Given the description of an element on the screen output the (x, y) to click on. 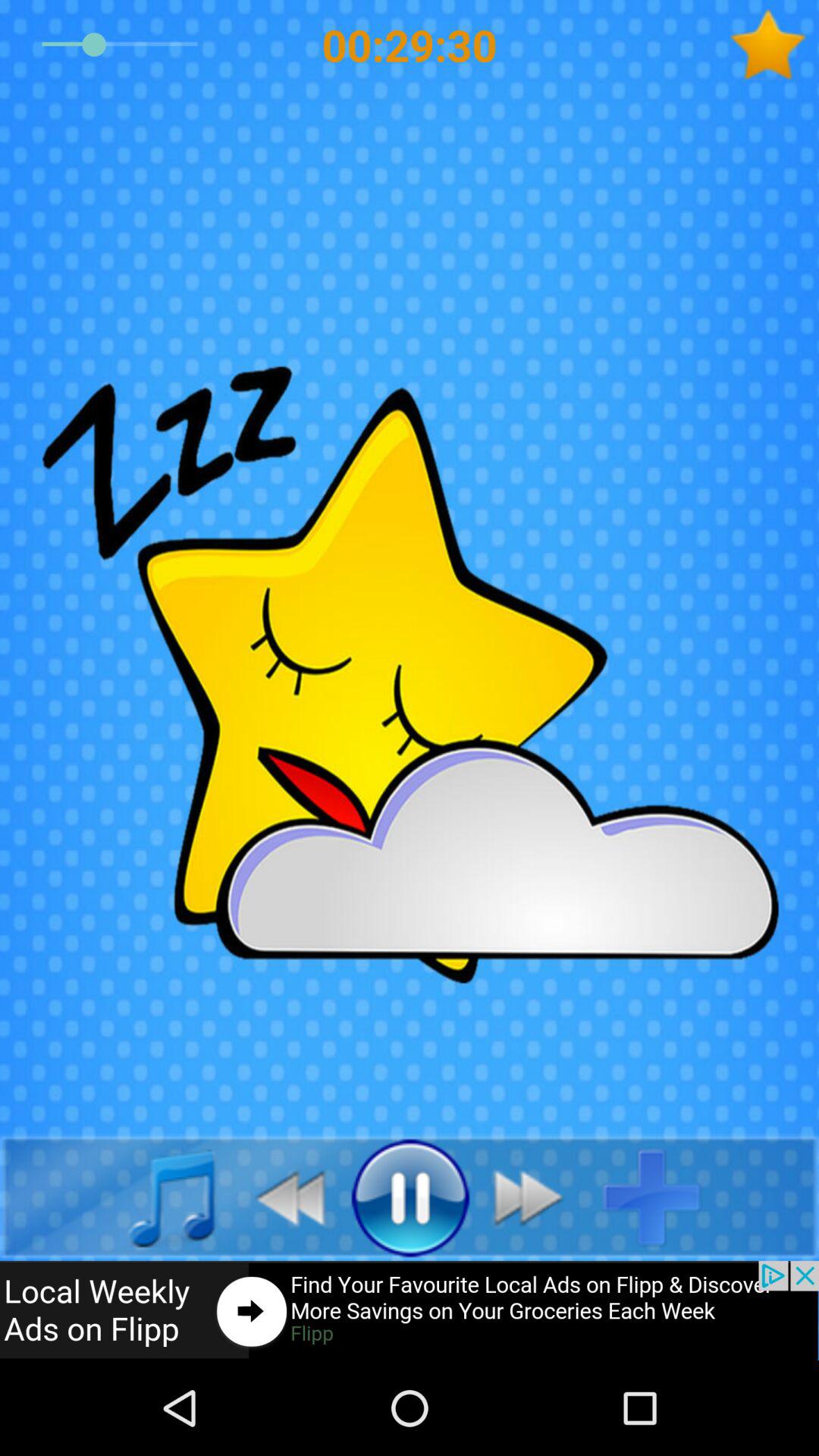
star option (774, 44)
